Given the description of an element on the screen output the (x, y) to click on. 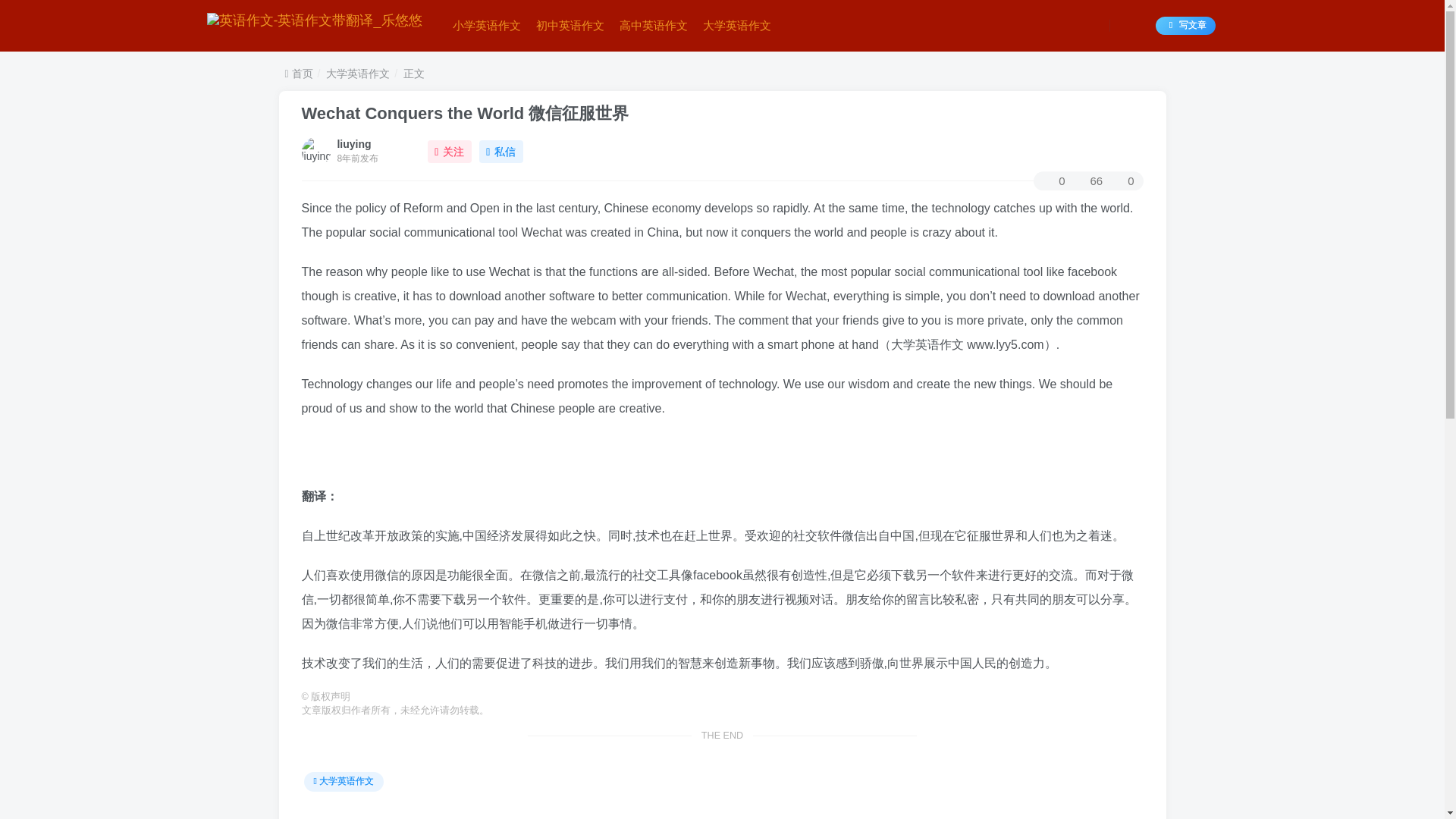
0 (1053, 180)
liuying (353, 143)
